Given the description of an element on the screen output the (x, y) to click on. 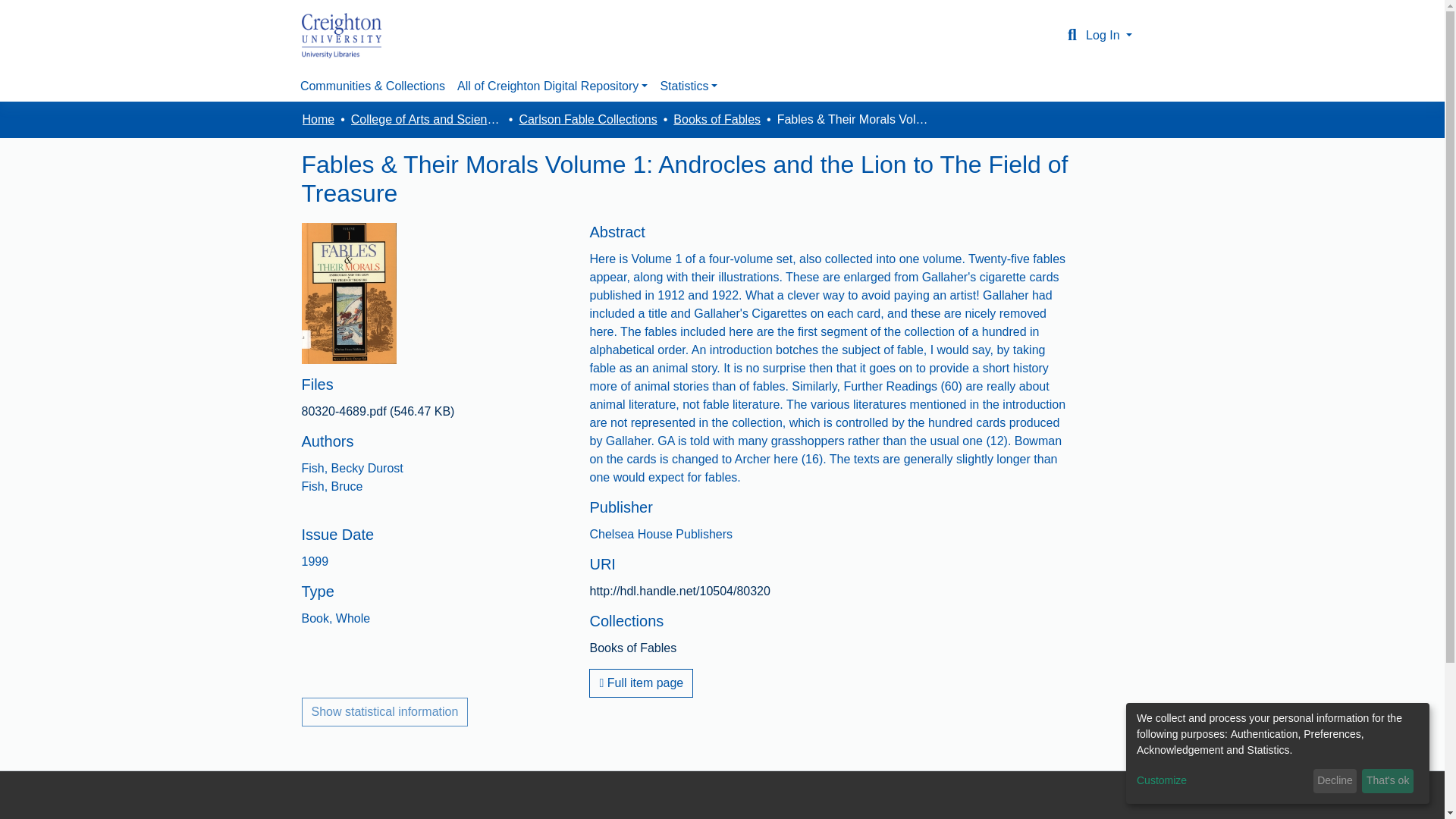
Search (1072, 35)
Full item page (641, 683)
Carlson Fable Collections (587, 119)
Customize (1222, 780)
College of Arts and Sciences (426, 119)
Home (317, 119)
That's ok (1387, 781)
Books of Fables (633, 647)
All of Creighton Digital Repository (552, 86)
Log In (1108, 34)
Decline (1334, 781)
Show statistical information (384, 711)
Books of Fables (716, 119)
Statistics (688, 86)
